Given the description of an element on the screen output the (x, y) to click on. 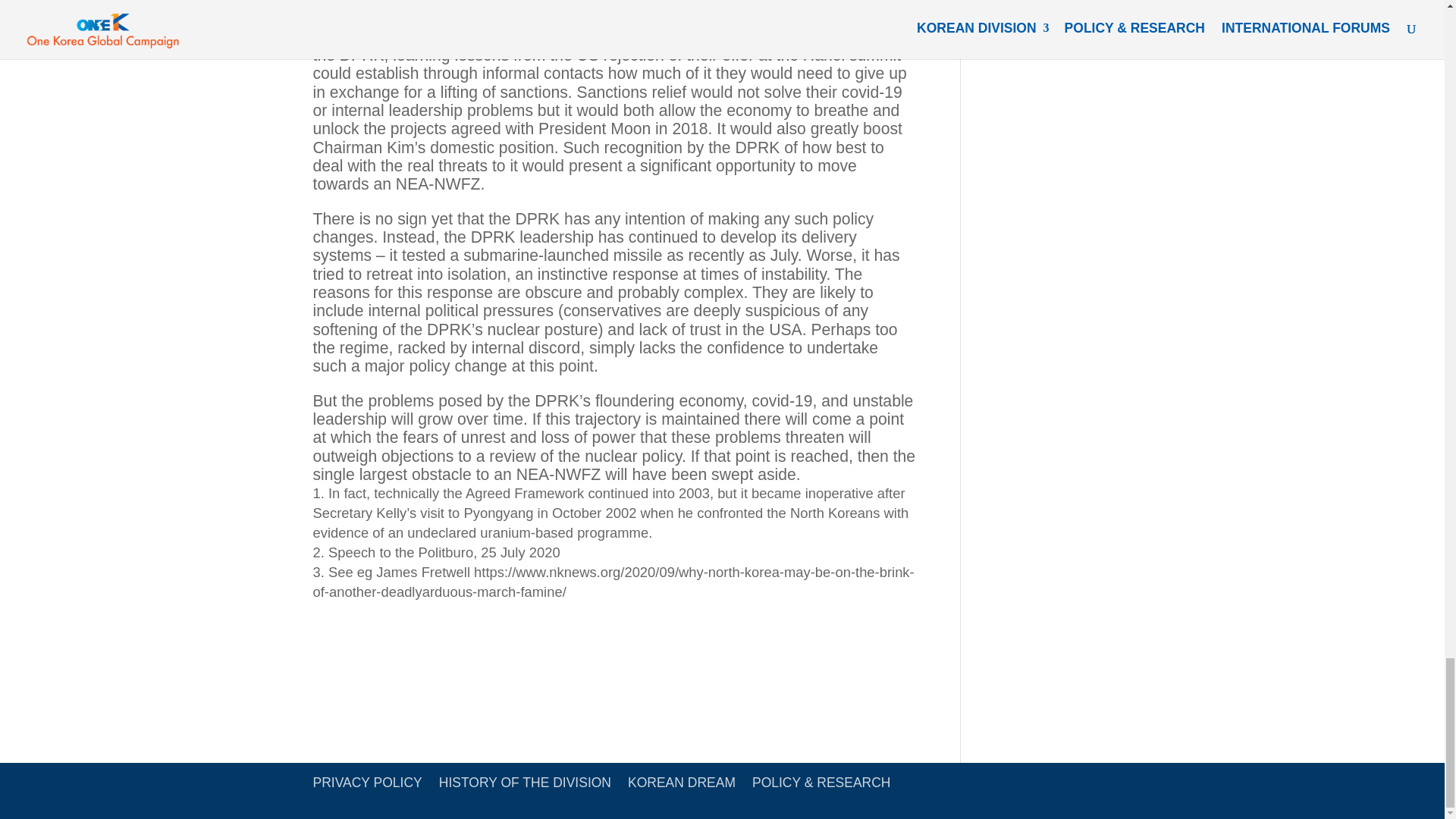
KOREAN DREAM (681, 782)
PRIVACY POLICY (367, 782)
HISTORY OF THE DIVISION (525, 782)
